Given the description of an element on the screen output the (x, y) to click on. 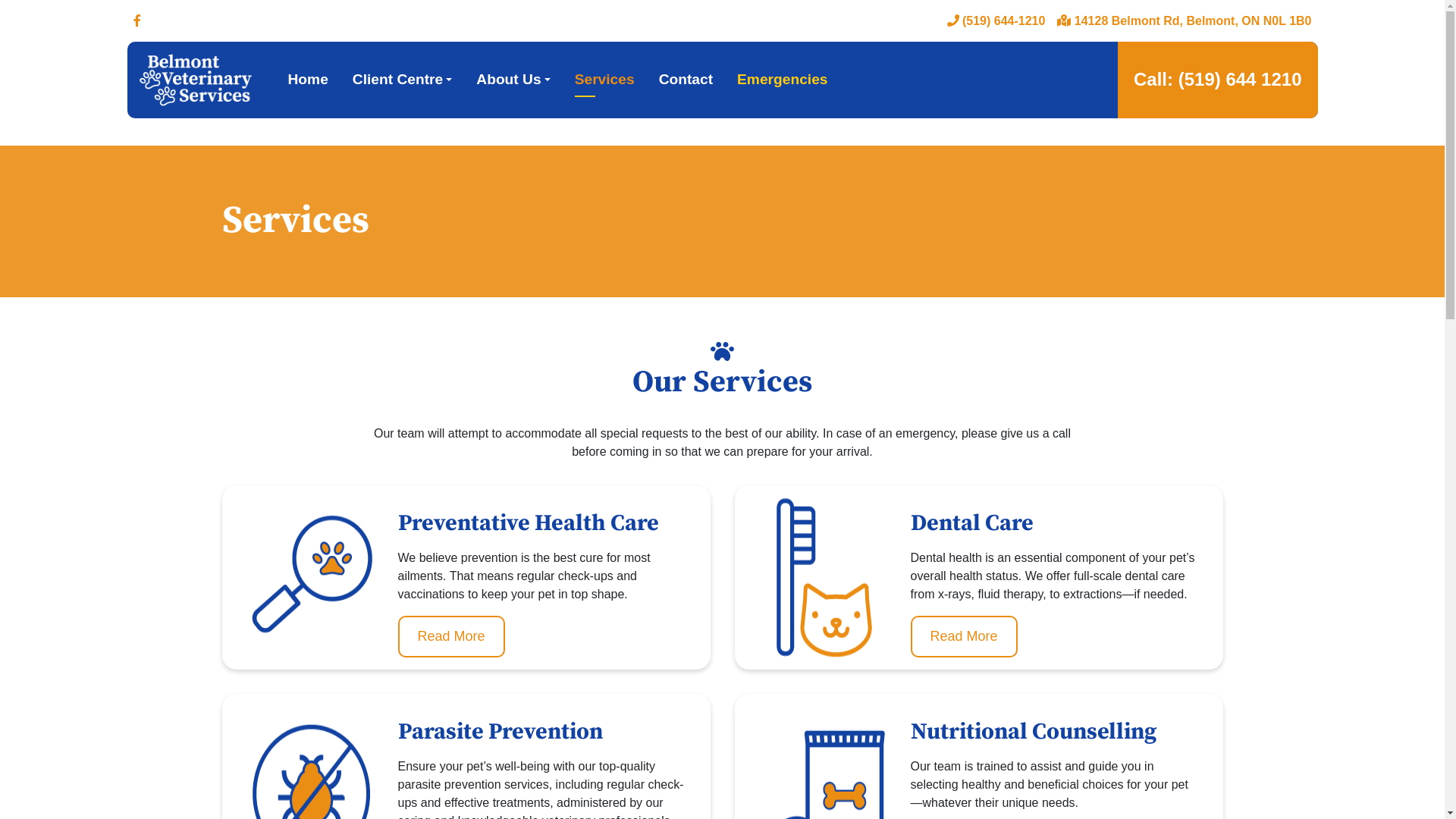
Home Element type: text (308, 79)
Emergencies Element type: text (781, 79)
Client Centre Element type: text (402, 79)
Read More Element type: text (450, 636)
Read More Element type: text (963, 636)
14128 Belmont Rd, Belmont, ON N0L 1B0 Element type: text (1184, 21)
About Us Element type: text (512, 79)
Call: (519) 644 1210 Element type: text (1217, 79)
Services Element type: text (604, 79)
Contact Element type: text (685, 79)
(519) 644-1210 Element type: text (996, 21)
